Given the description of an element on the screen output the (x, y) to click on. 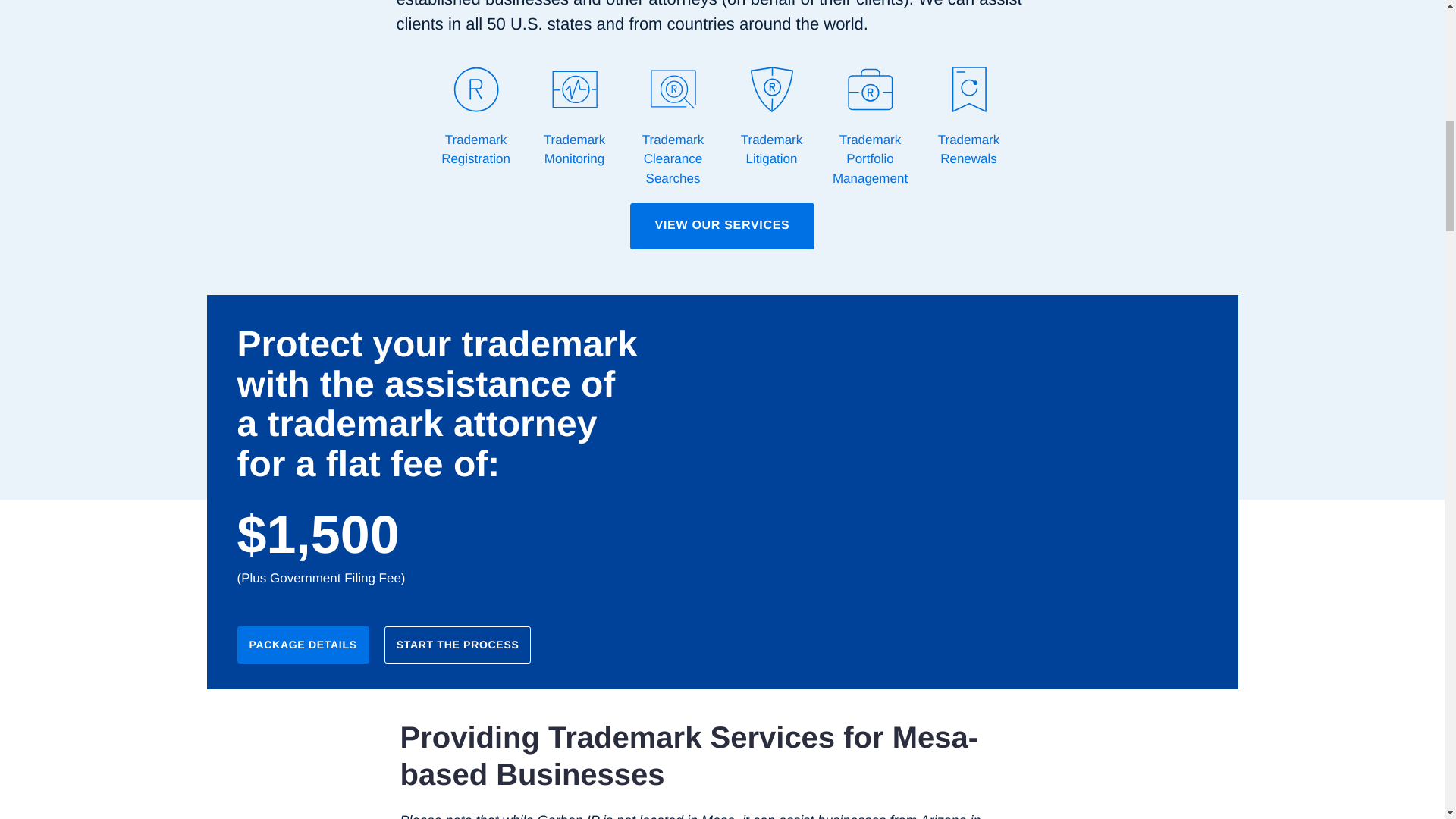
Trademark Registration (475, 117)
Trademark Monitoring (573, 117)
PACKAGE DETAILS (301, 645)
Trademark Litigation (771, 117)
Trademark Monitoring (573, 117)
START THE PROCESS (457, 645)
Trademark Litigation (771, 117)
Trademark Renewals (967, 117)
VIEW OUR SERVICES (722, 225)
Start Protecting Your Trademark (835, 579)
